Given the description of an element on the screen output the (x, y) to click on. 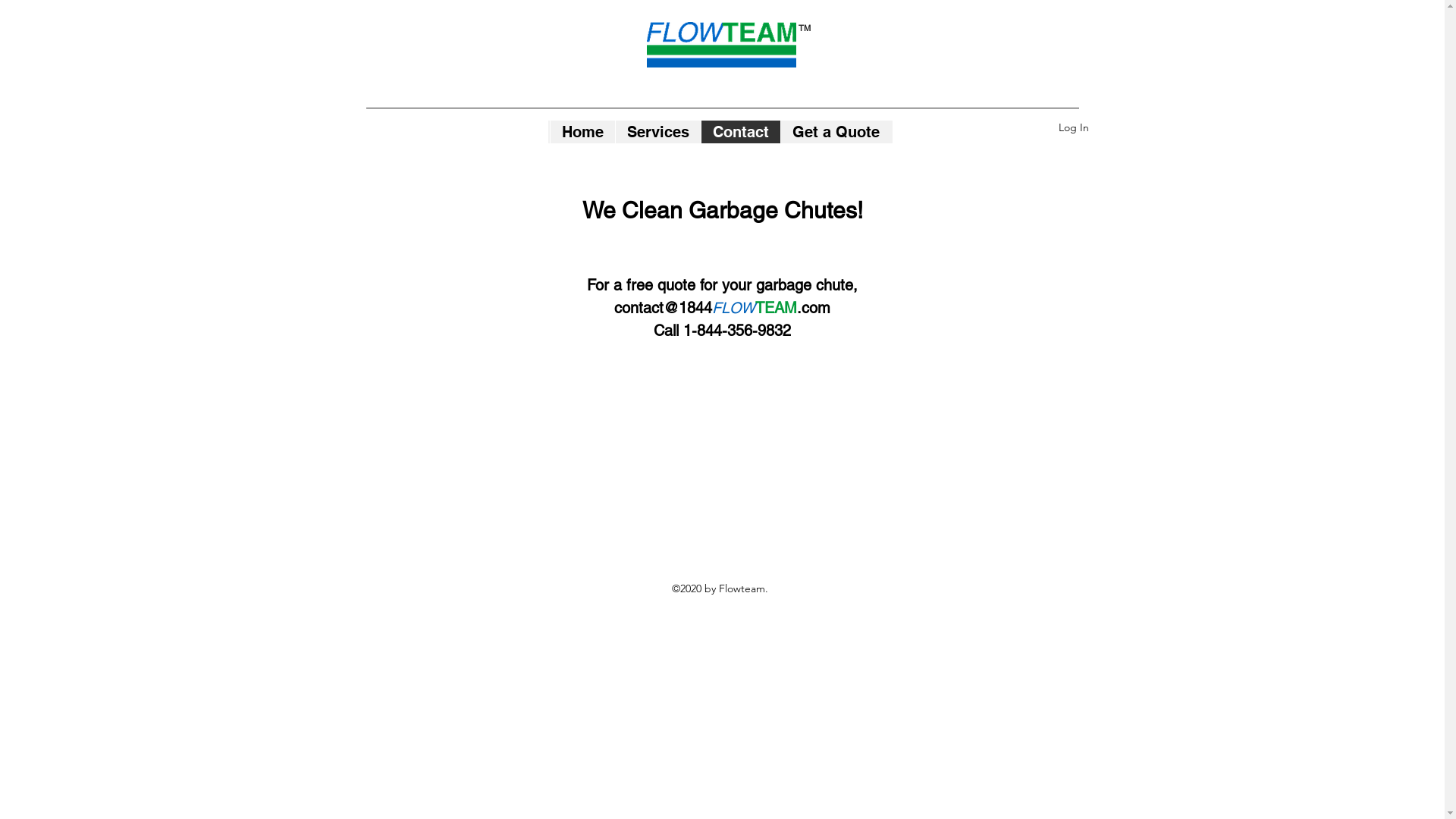
Services Element type: text (656, 131)
Contact Element type: text (740, 131)
Log In Element type: text (1073, 127)
Get a Quote Element type: text (834, 131)
Home Element type: text (581, 131)
